Given the description of an element on the screen output the (x, y) to click on. 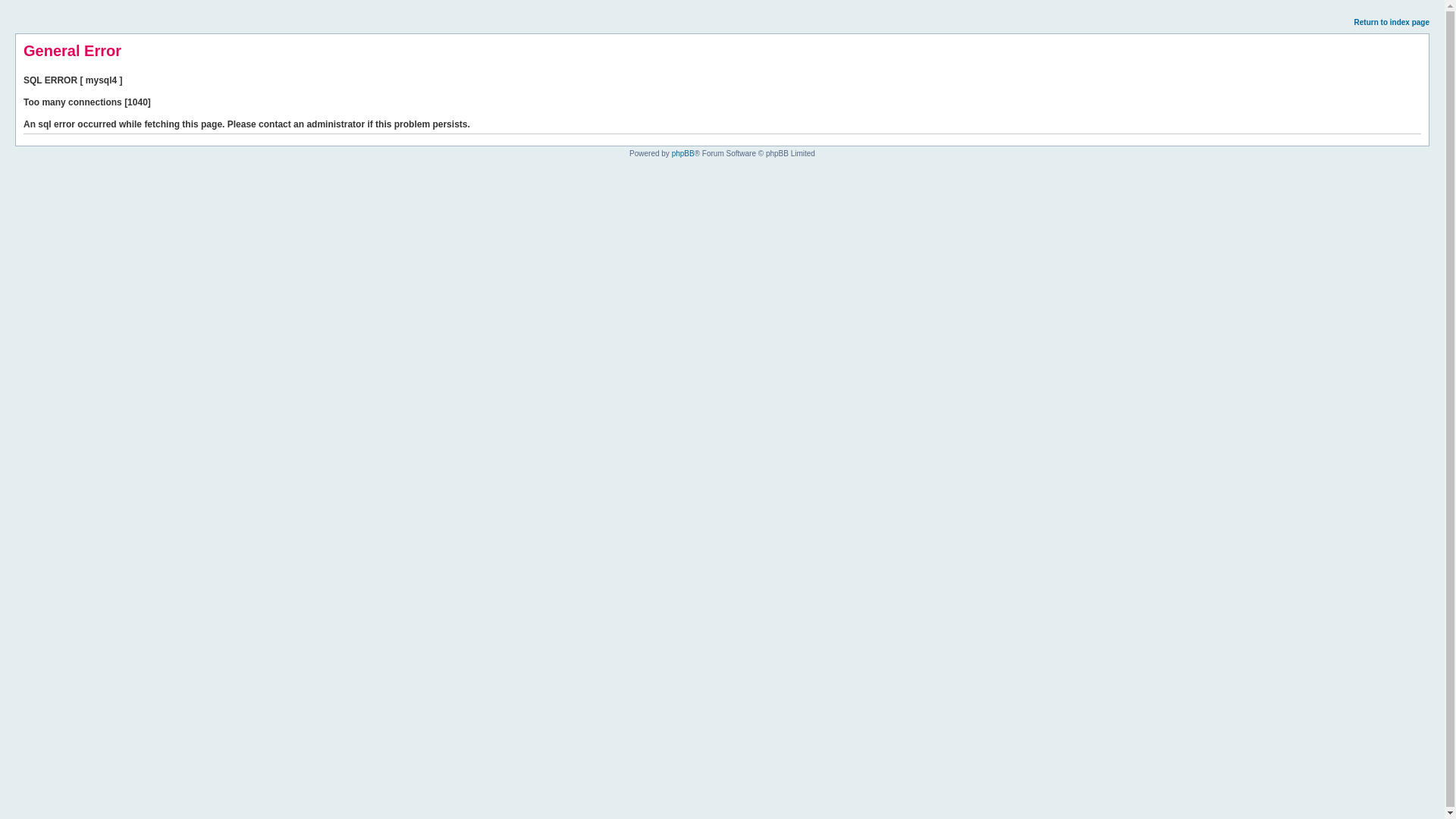
phpBB (682, 153)
Return to index page (1391, 22)
